Given the description of an element on the screen output the (x, y) to click on. 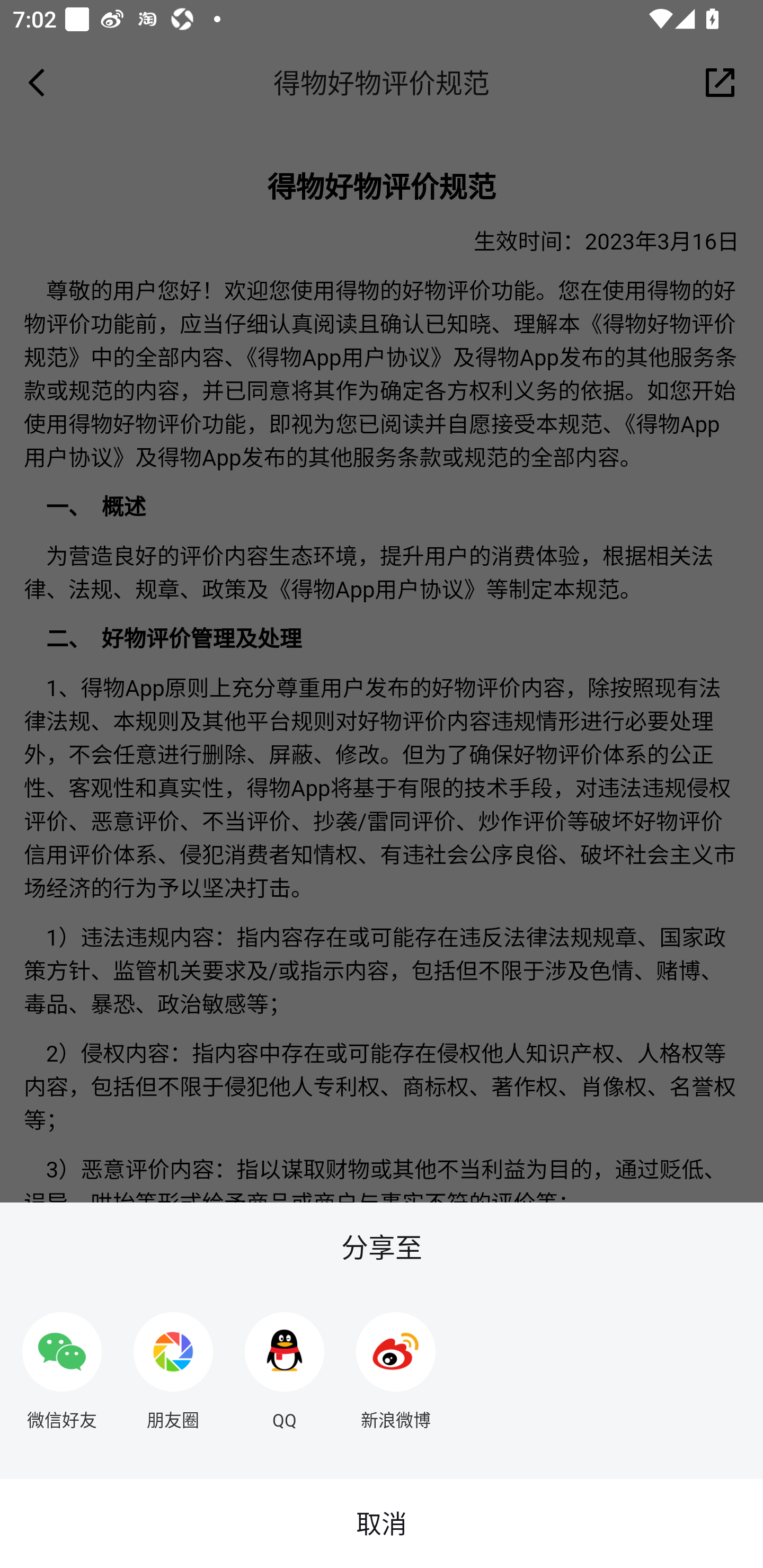
微信好友 (61, 1363)
朋友圈 (172, 1363)
QQ (284, 1363)
新浪微博 (395, 1363)
取消 (381, 1523)
